Given the description of an element on the screen output the (x, y) to click on. 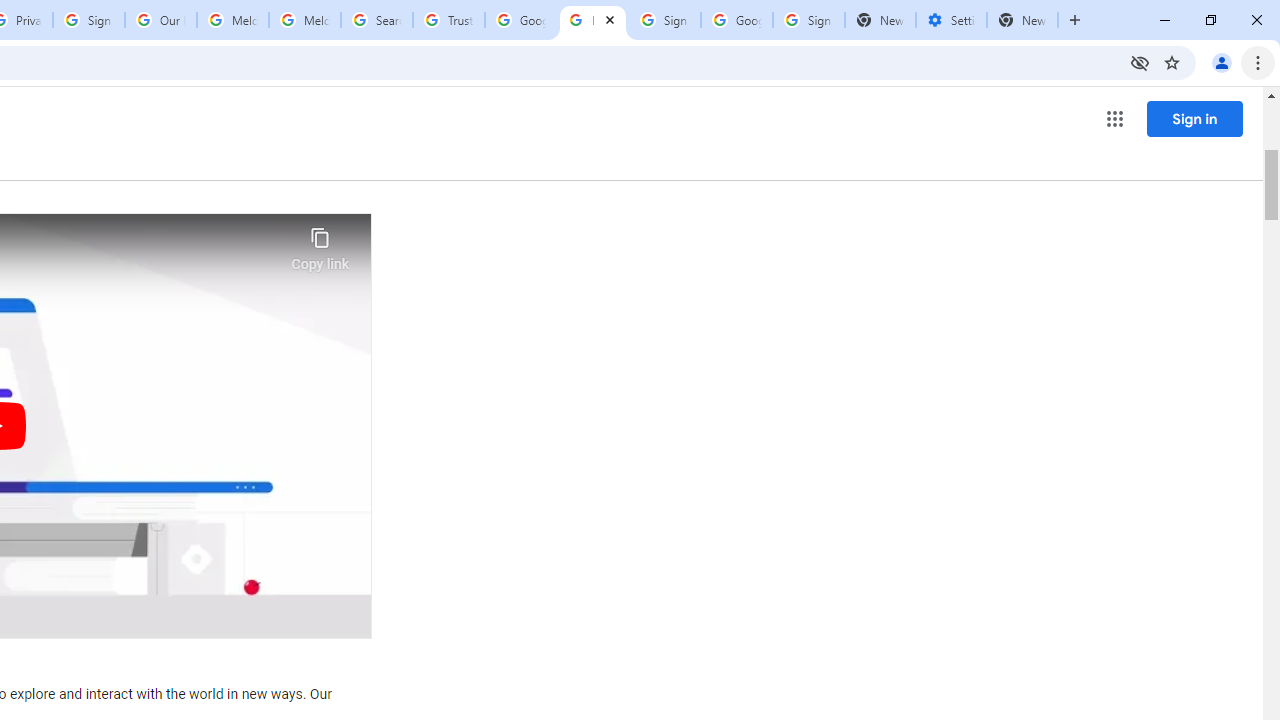
Google Cybersecurity Innovations - Google Safety Center (737, 20)
Copy link (319, 244)
Google Ads - Sign in (520, 20)
Settings - Addresses and more (951, 20)
Trusted Information and Content - Google Safety Center (449, 20)
Sign in - Google Accounts (808, 20)
